Given the description of an element on the screen output the (x, y) to click on. 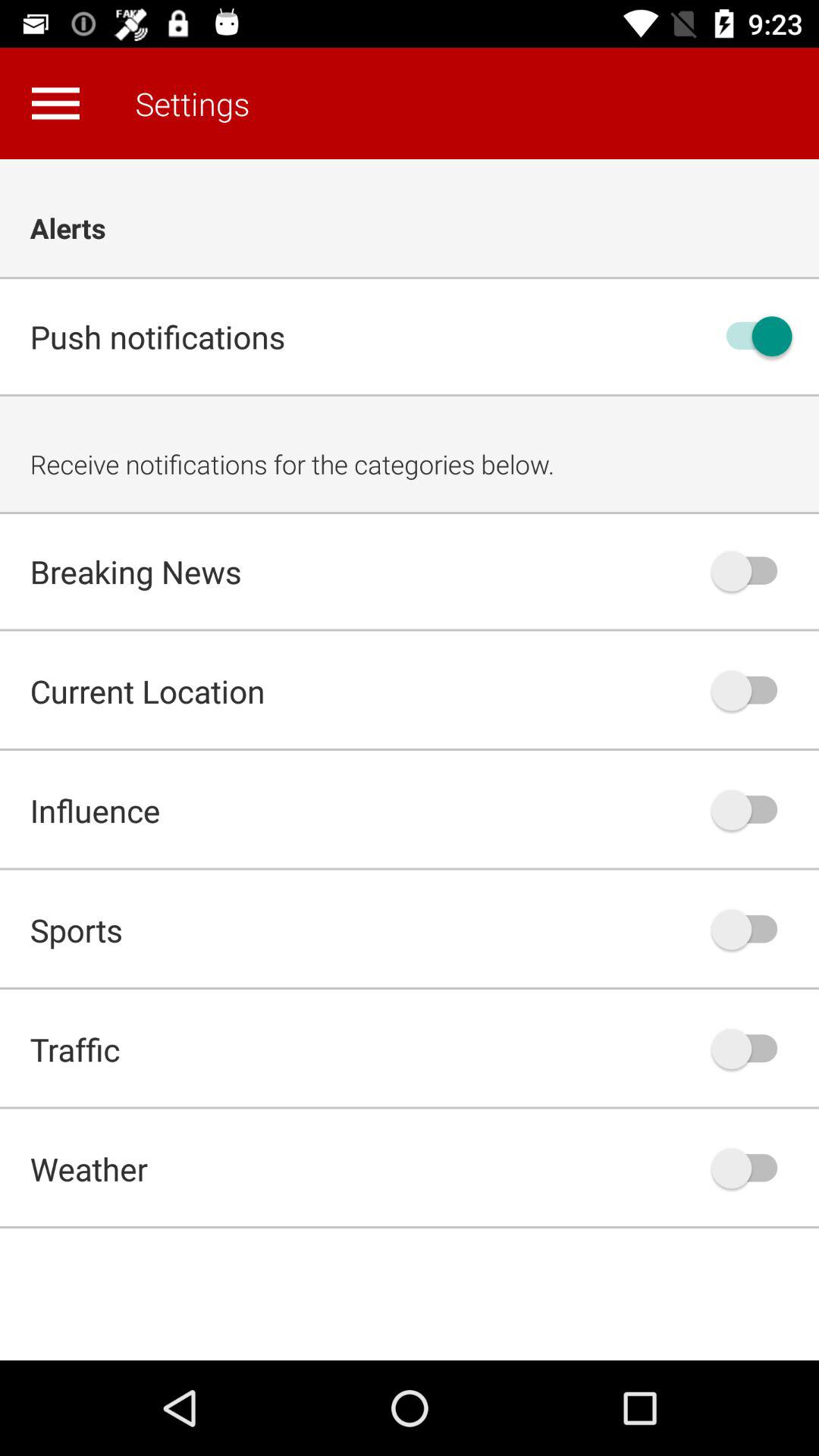
activate (751, 571)
